Given the description of an element on the screen output the (x, y) to click on. 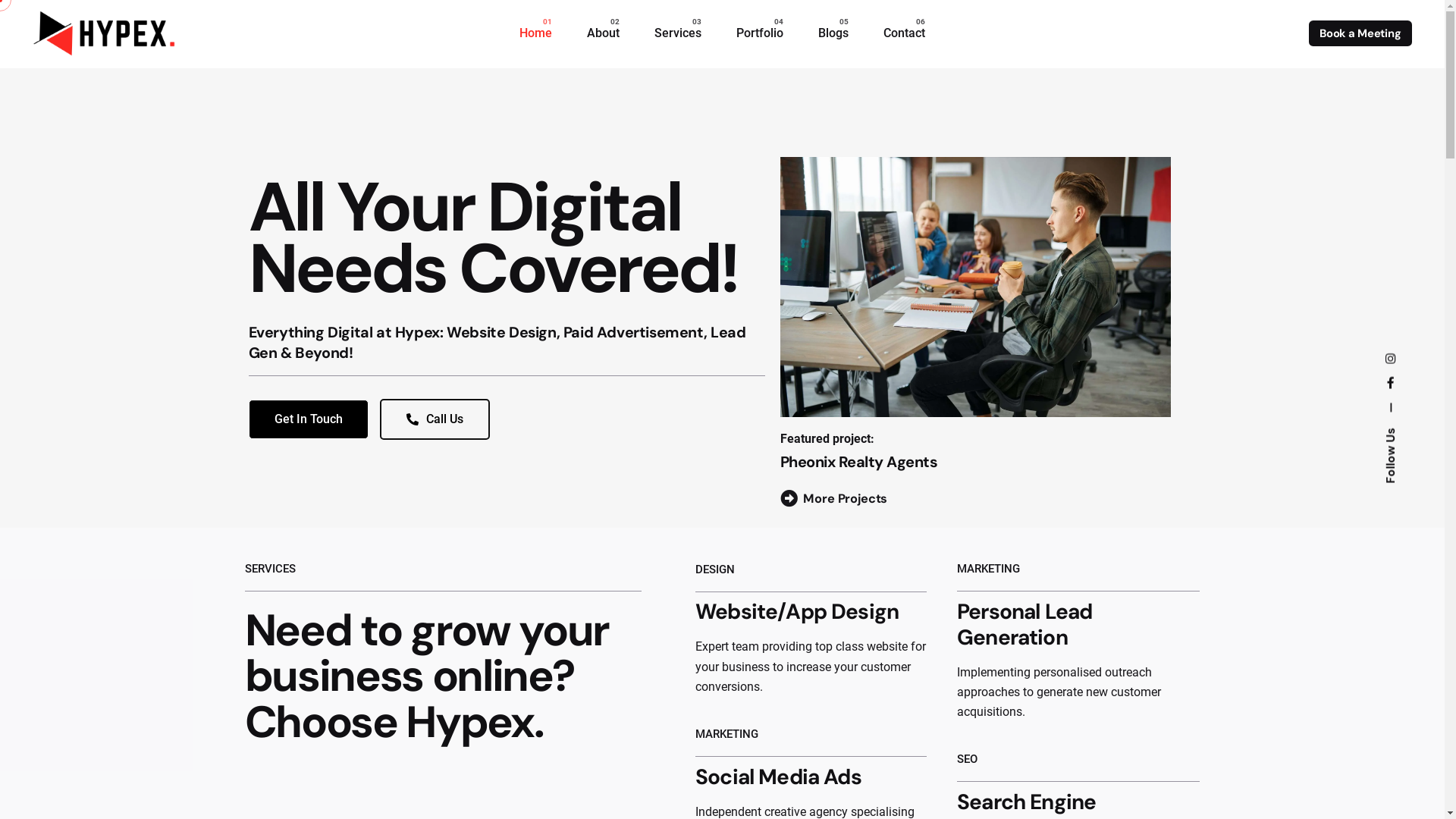
Book a Meeting Element type: text (1360, 33)
Call Us Element type: text (434, 418)
Social Media Ads Element type: text (778, 776)
Pheonix Realty Agents Element type: text (859, 461)
Hypex.au Element type: hover (1386, 386)
Portfolio Element type: text (759, 33)
Home Element type: text (535, 33)
Hypex.au Element type: hover (1387, 360)
Services Element type: text (677, 33)
Contact Element type: text (904, 33)
Blogs Element type: text (833, 33)
Get In Touch Element type: text (308, 419)
About Element type: text (603, 33)
More Projects Element type: text (834, 498)
Personal Lead Generation Element type: text (1024, 624)
Website/App Design Element type: text (796, 611)
